Given the description of an element on the screen output the (x, y) to click on. 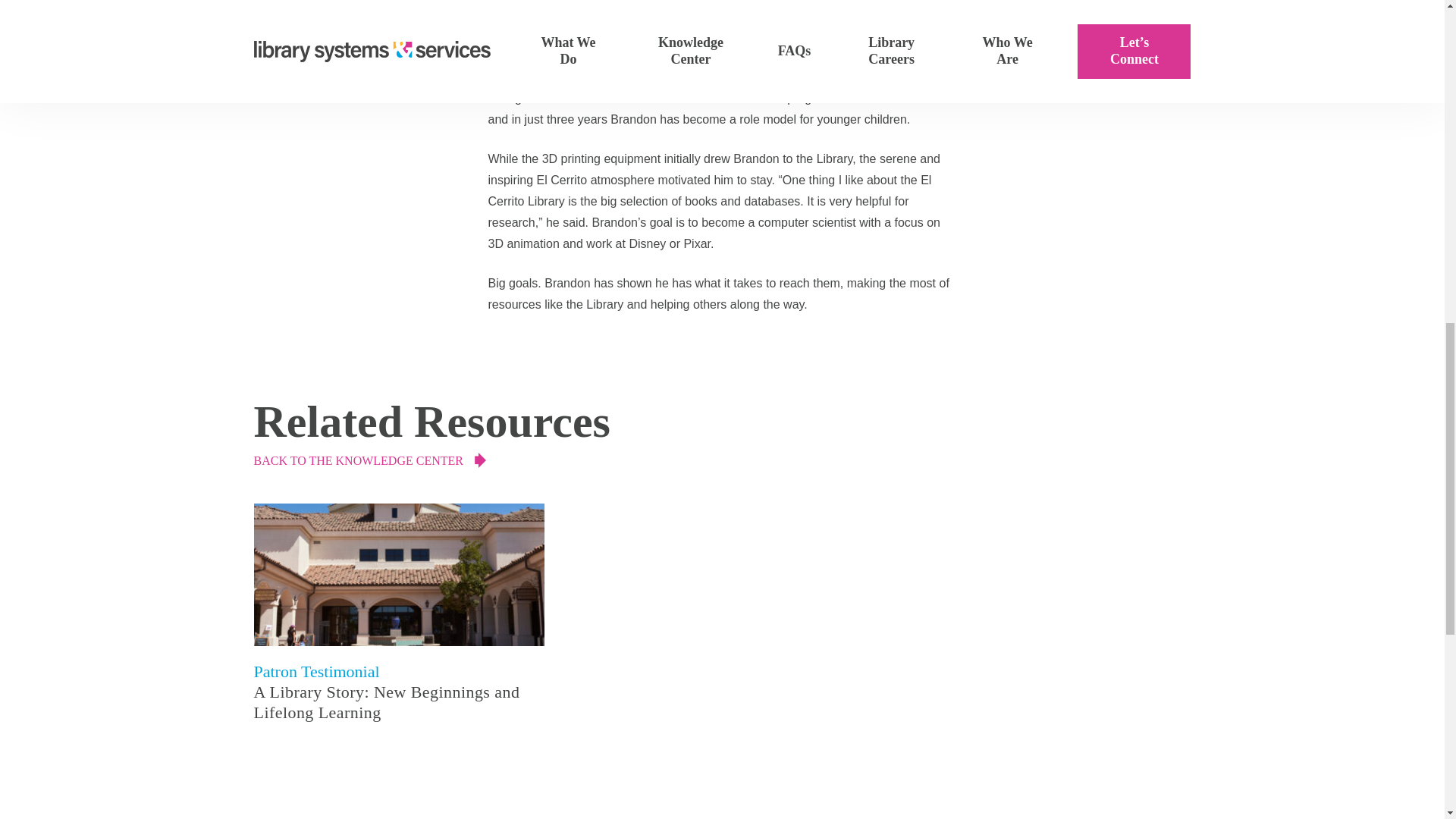
A Library Story: New Beginnings and Lifelong Learning (398, 701)
BACK TO THE KNOWLEDGE CENTER (722, 460)
